Given the description of an element on the screen output the (x, y) to click on. 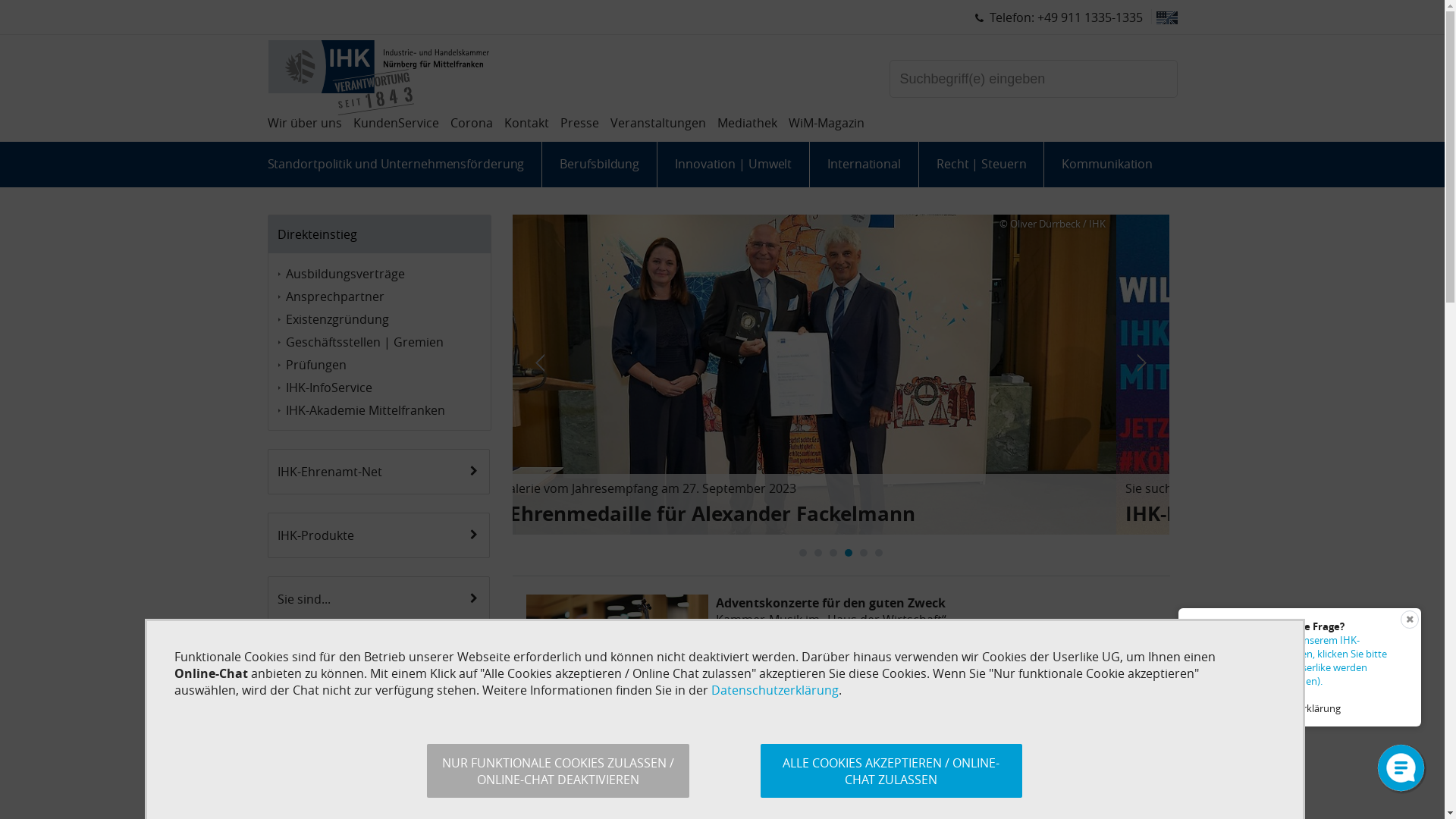
4 Element type: text (848, 552)
IHK-Ehrenamt-Net Element type: text (376, 471)
Prev Element type: text (532, 362)
ALLE COOKIES AKZEPTIEREN / ONLINE-CHAT ZULASSEN Element type: text (890, 770)
1 Element type: text (802, 552)
6 Element type: text (878, 552)
WiM-Magazin Element type: text (826, 122)
Umfrage zur Ausbildungsstellensituation 2023 Element type: text (860, 753)
Kontakt Element type: text (525, 122)
Kommunikation Element type: text (1105, 163)
Presse Element type: text (578, 122)
IHK Kammer-Musik Element type: hover (620, 645)
Nachname Element type: text (379, 705)
Next Element type: text (1149, 362)
Veranstaltungen Element type: text (657, 122)
Mediathek Element type: text (747, 122)
Berufsbildung Element type: text (599, 163)
International Element type: text (863, 163)
KundenService Element type: text (396, 122)
Corona Element type: text (471, 122)
Recht | Steuern Element type: text (981, 163)
IHK-InfoService Element type: text (383, 387)
5 Element type: text (863, 552)
Ansprechpartner Element type: text (383, 296)
Suchbegriff(e) eingeben Element type: text (1032, 78)
IHK-Akademie Mittelfranken Element type: text (383, 409)
2 Element type: text (818, 552)
Innovation | Umwelt Element type: text (733, 163)
JETZT ANMELDEN Element type: text (325, 793)
E-Mail-Adresse Element type: text (379, 751)
NUR FUNKTIONALE COOKIES ZULASSEN / ONLINE-CHAT DEAKTIVIEREN Element type: text (557, 770)
3 Element type: text (833, 552)
Statistiken zum Ausbildungsmarkt in Mittelfranken Element type: text (864, 770)
